Given the description of an element on the screen output the (x, y) to click on. 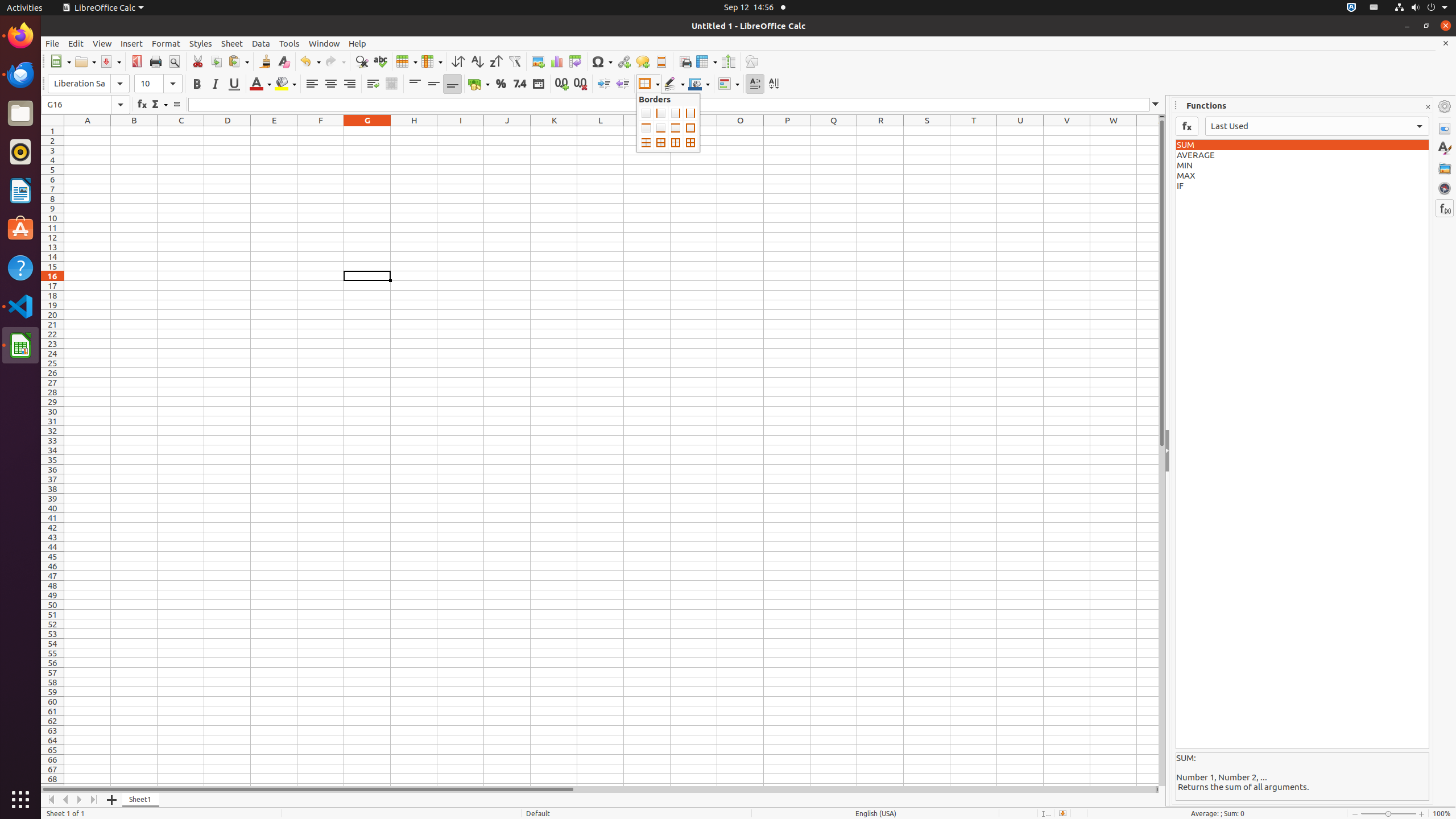
Move Left Element type: push-button (65, 799)
Horizontal scroll bar Element type: scroll-bar (597, 789)
Row Element type: push-button (406, 61)
Background Color Element type: push-button (285, 83)
K1 Element type: table-cell (553, 130)
